Given the description of an element on the screen output the (x, y) to click on. 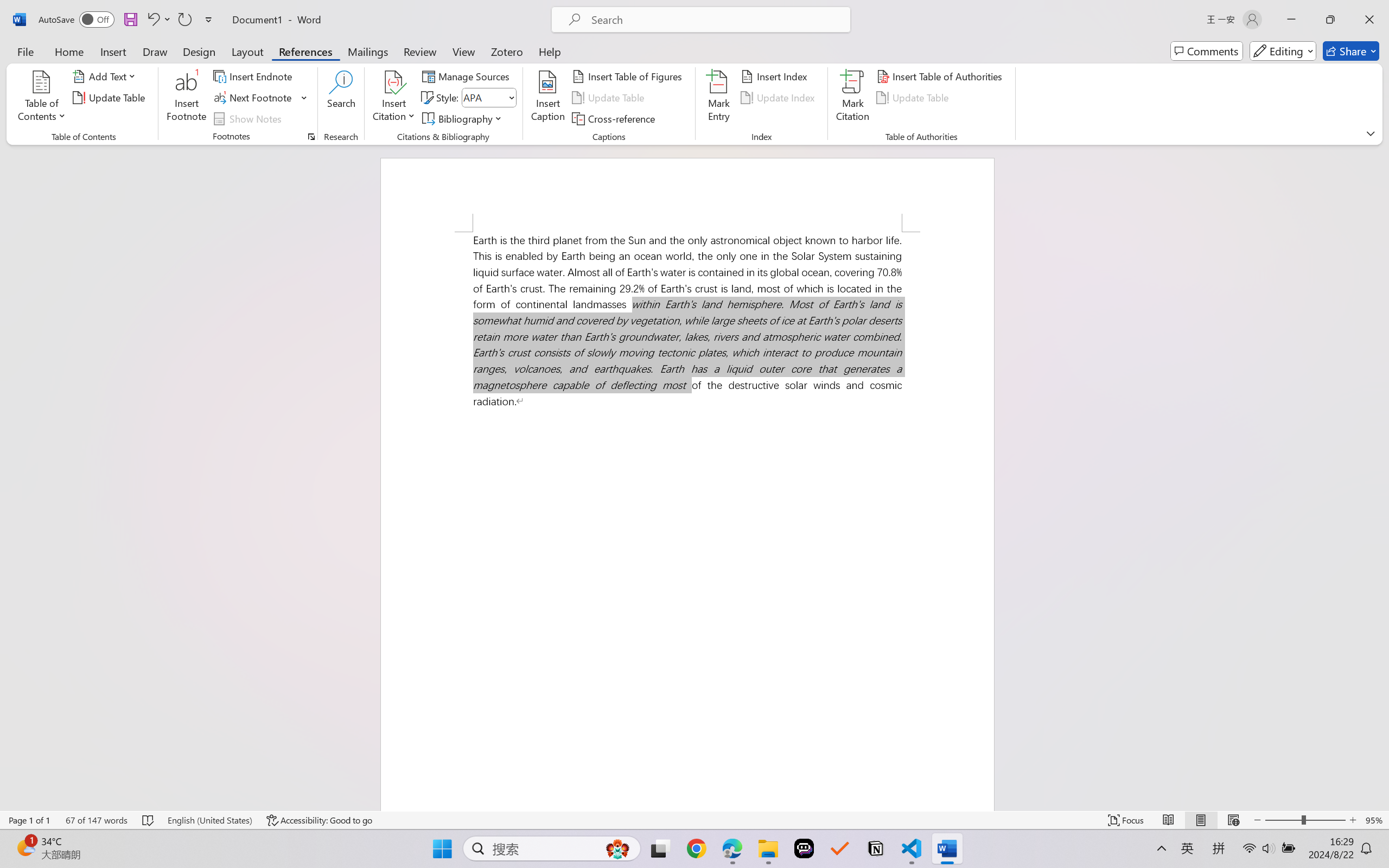
Cross-reference... (615, 118)
Undo Italic (152, 19)
Update Index (778, 97)
Insert Table of Figures... (628, 75)
Insert Index... (775, 75)
Style (488, 97)
